Given the description of an element on the screen output the (x, y) to click on. 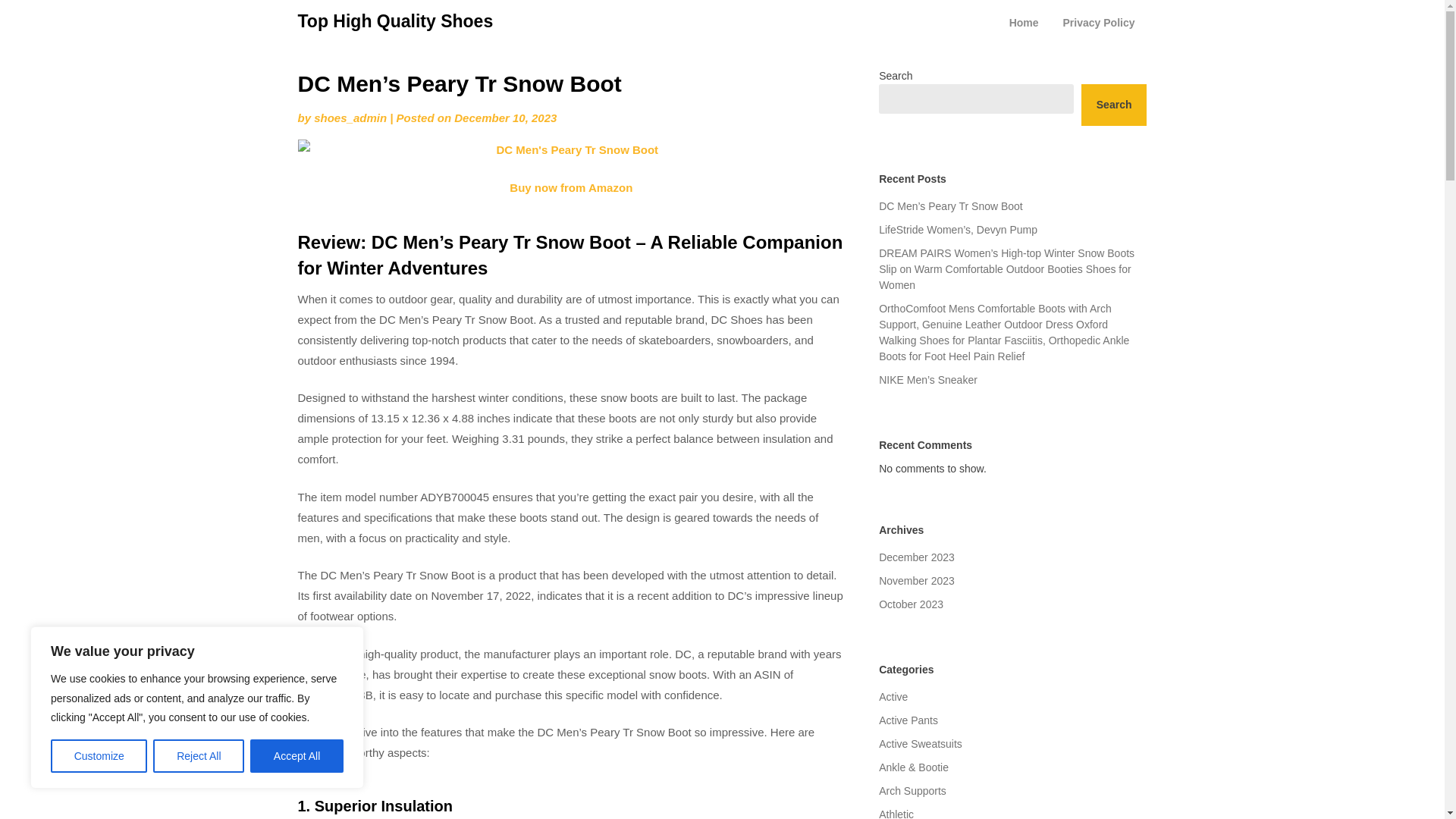
Accept All (296, 756)
October 2023 (911, 604)
December 10, 2023 (505, 117)
November 2023 (917, 580)
December 2023 (917, 557)
Active Sweatsuits (920, 743)
Reject All (198, 756)
Search (1114, 105)
Top High Quality Shoes (395, 21)
